Given the description of an element on the screen output the (x, y) to click on. 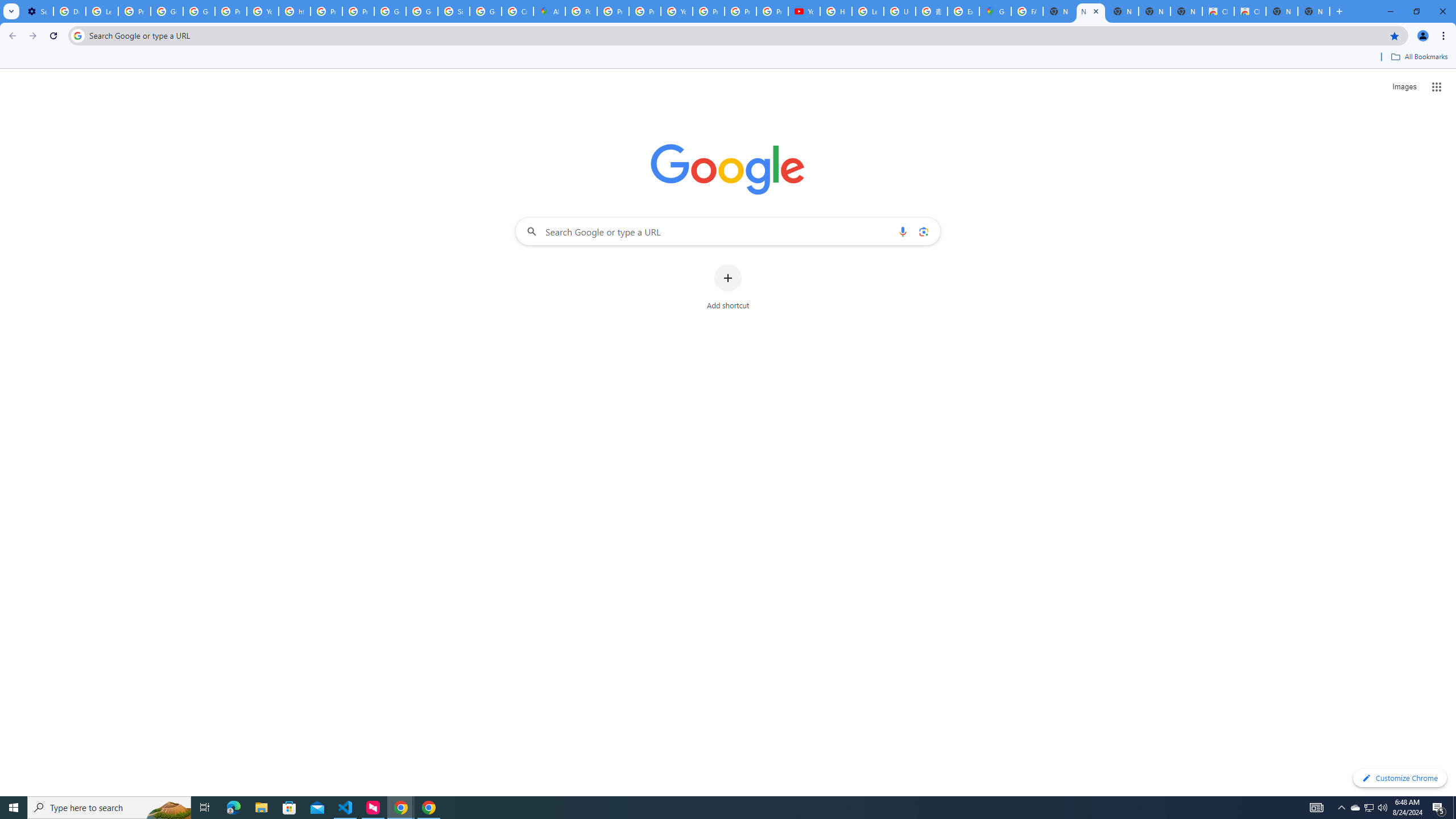
Google Account Help (166, 11)
Google Maps (995, 11)
Explore new street-level details - Google Maps Help (963, 11)
Policy Accountability and Transparency - Transparency Center (581, 11)
Privacy Help Center - Policies Help (644, 11)
